Given the description of an element on the screen output the (x, y) to click on. 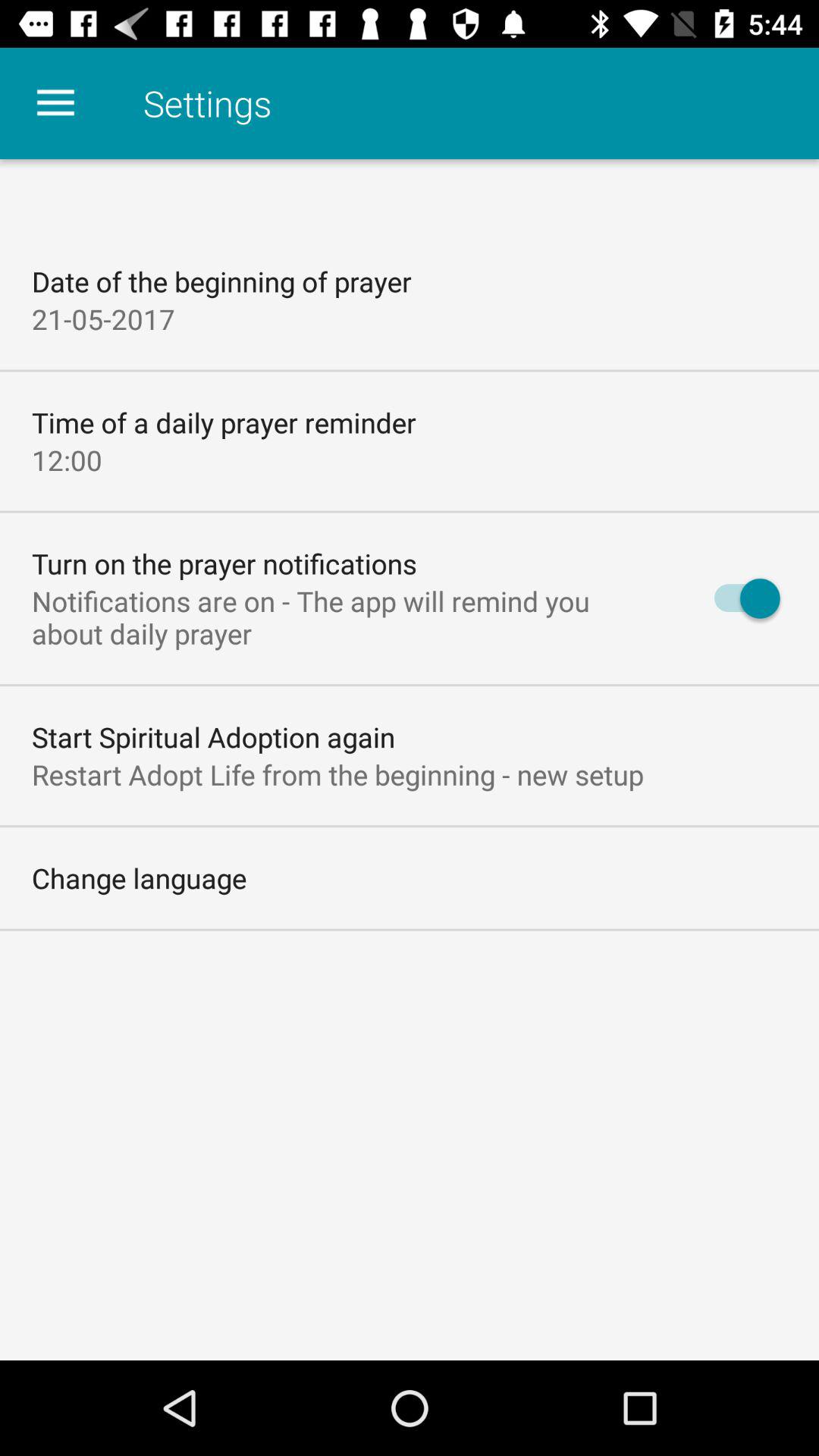
click item above the restart adopt life item (213, 736)
